Given the description of an element on the screen output the (x, y) to click on. 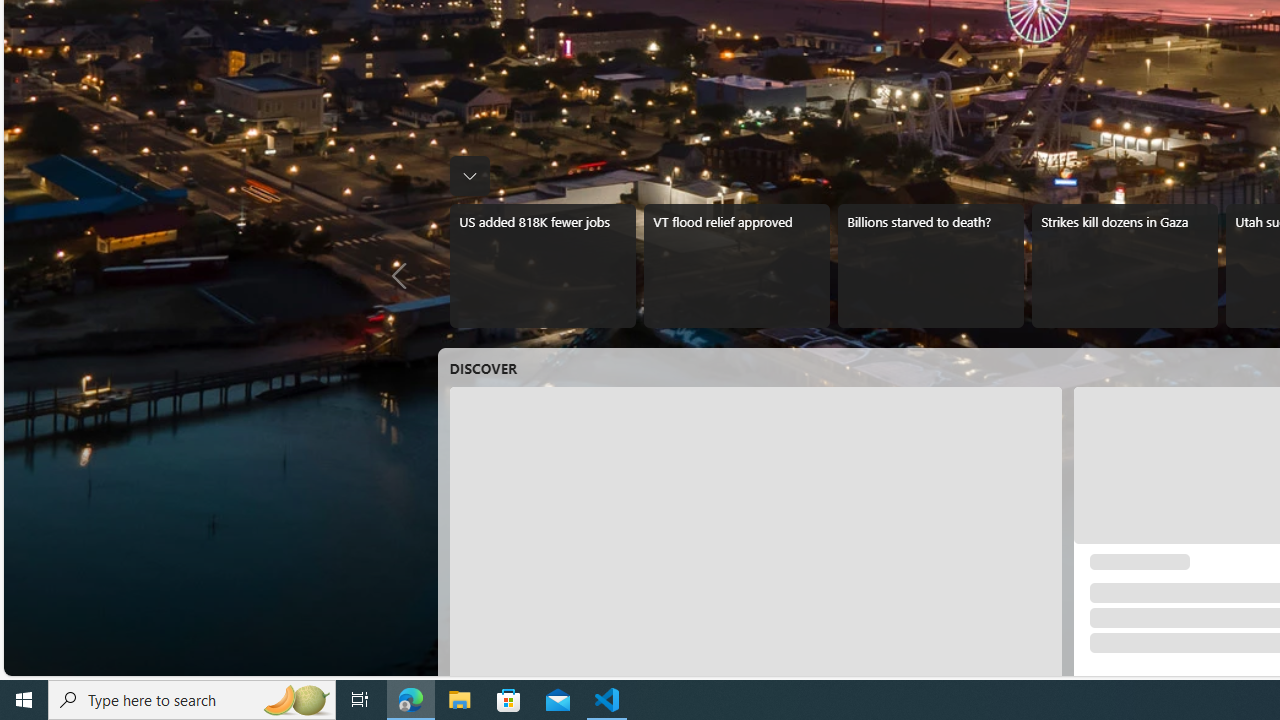
Billions starved to death? (930, 265)
VT flood relief approved (735, 265)
Strikes kill dozens in Gaza (1124, 265)
US added 818K fewer jobs (542, 265)
Previous news (404, 275)
The taskbar was expanded. Press to collapse taskbar (469, 175)
